Given the description of an element on the screen output the (x, y) to click on. 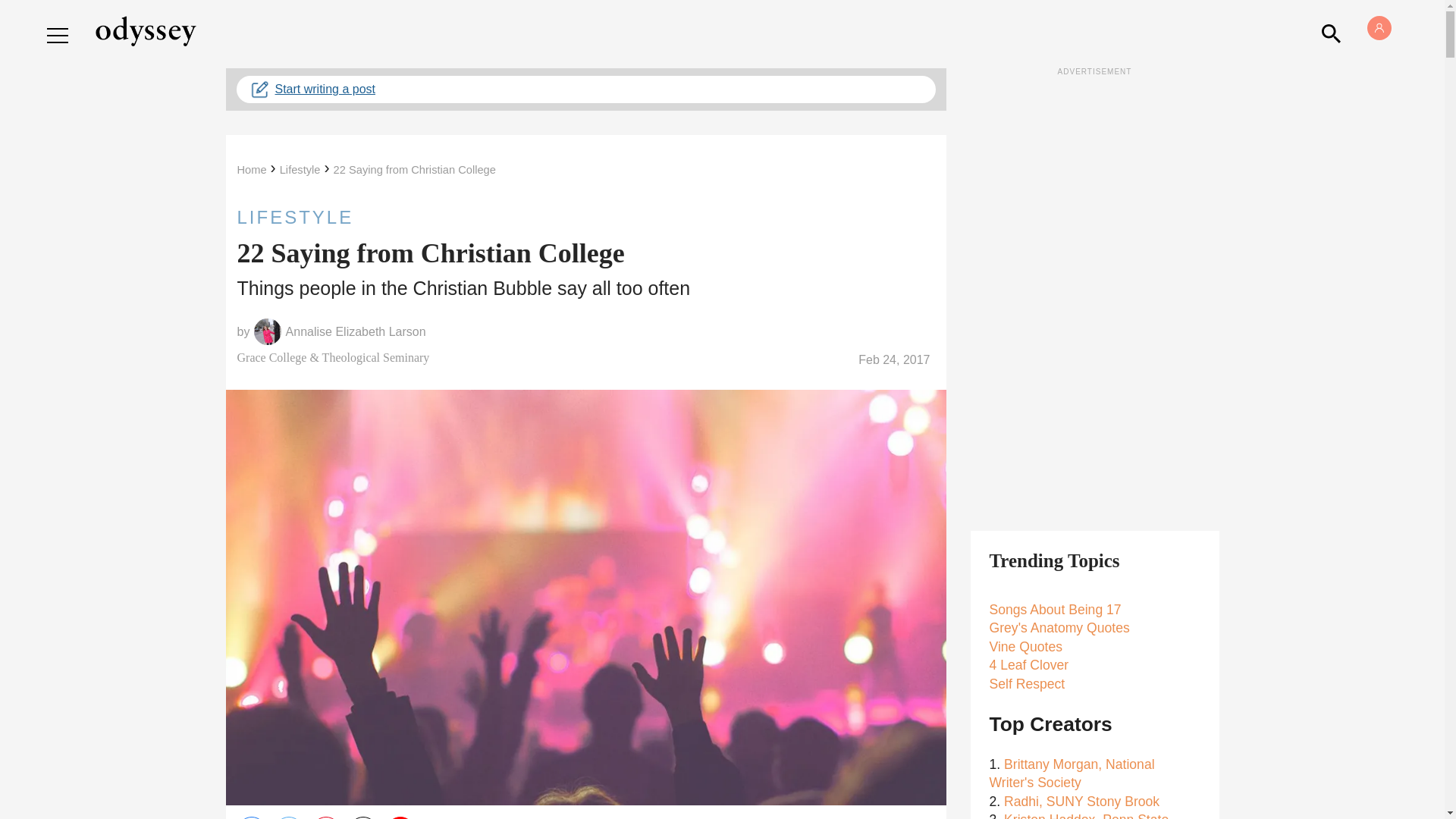
22 Saying from Christian College (414, 169)
Start writing a post (585, 89)
Annalise Elizabeth Larson (355, 332)
LIFESTYLE (584, 217)
Home (250, 169)
Lifestyle (299, 169)
